Given the description of an element on the screen output the (x, y) to click on. 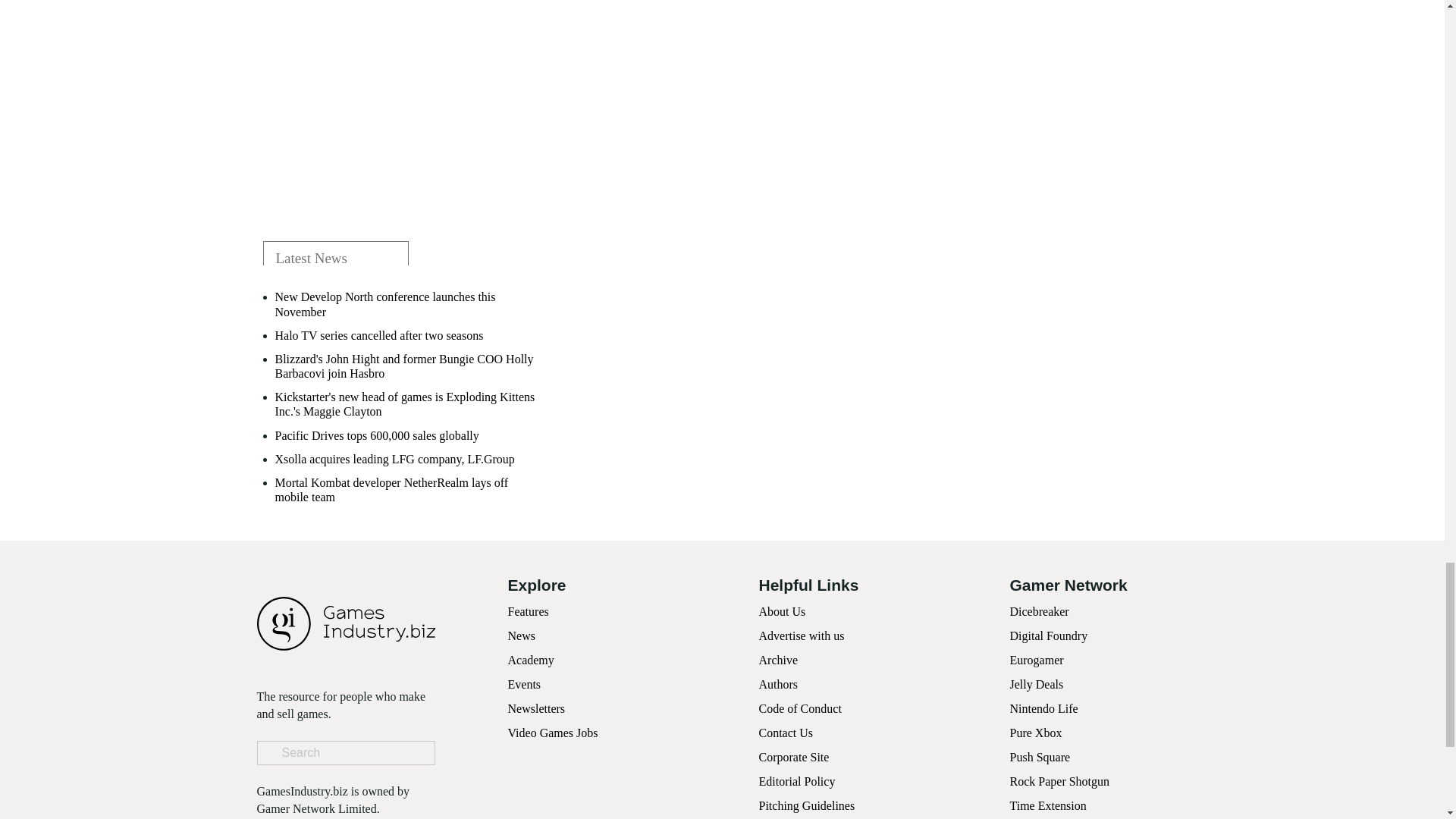
About Us (781, 611)
Pacific Drives tops 600,000 sales globally (377, 435)
Events (524, 684)
Archive (777, 659)
Xsolla acquires leading LFG company, LF.Group (394, 459)
Mortal Kombat developer NetherRealm lays off mobile team (409, 489)
Academy (531, 659)
Features (528, 611)
Advertise with us (801, 635)
News (521, 635)
Halo TV series cancelled after two seasons (379, 335)
Video Games Jobs (553, 732)
New Develop North conference launches this November (409, 303)
Newsletters (537, 707)
